Given the description of an element on the screen output the (x, y) to click on. 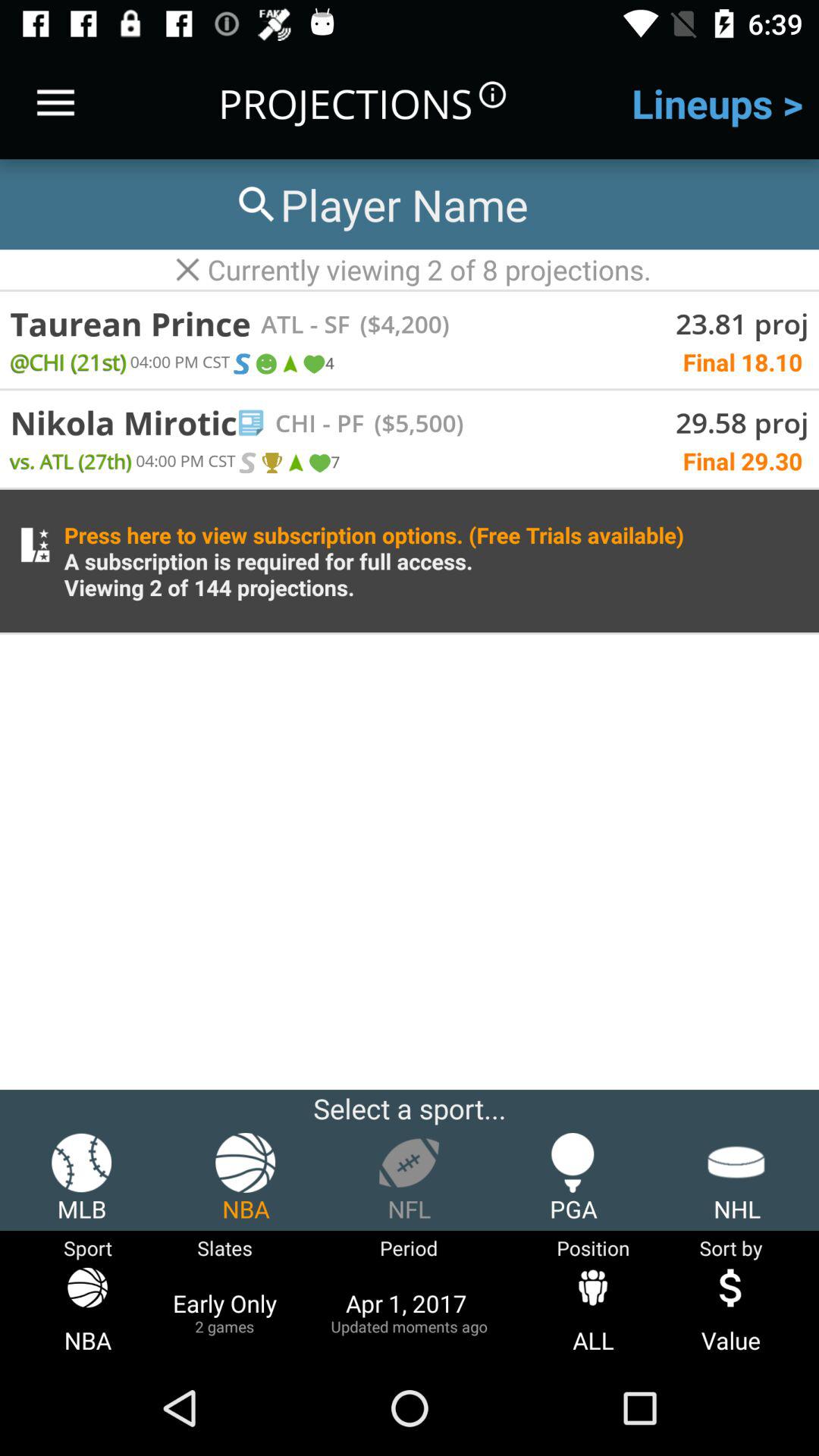
click icon to the left of the nba (81, 1178)
